Given the description of an element on the screen output the (x, y) to click on. 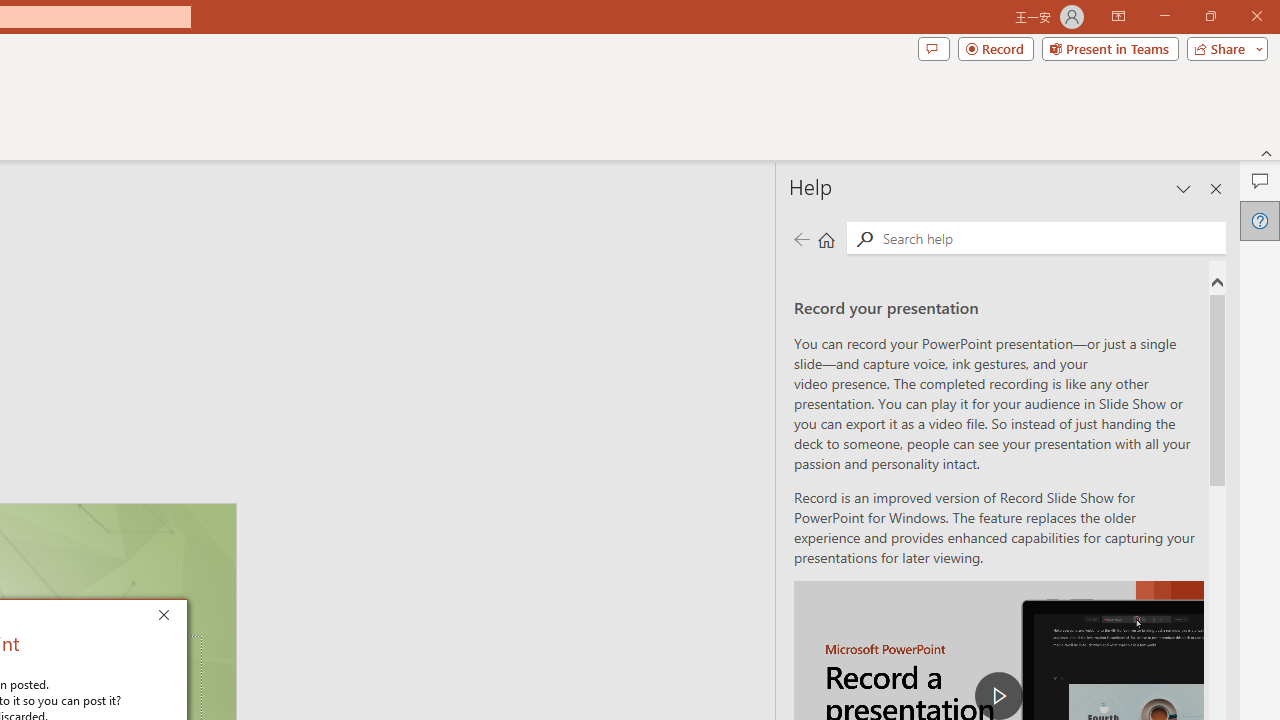
play Record a Presentation (998, 695)
